Given the description of an element on the screen output the (x, y) to click on. 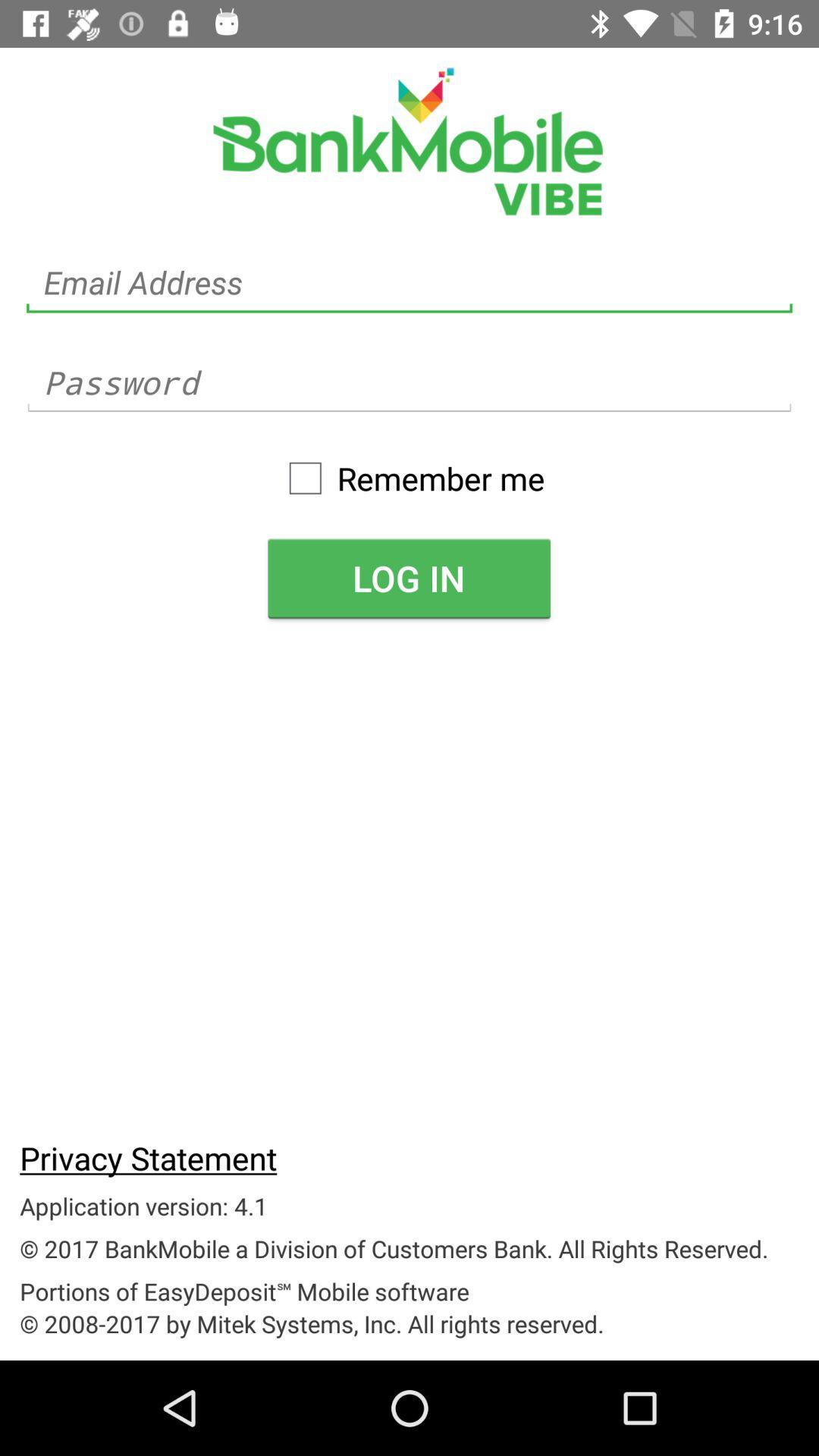
enter the password (409, 382)
